Given the description of an element on the screen output the (x, y) to click on. 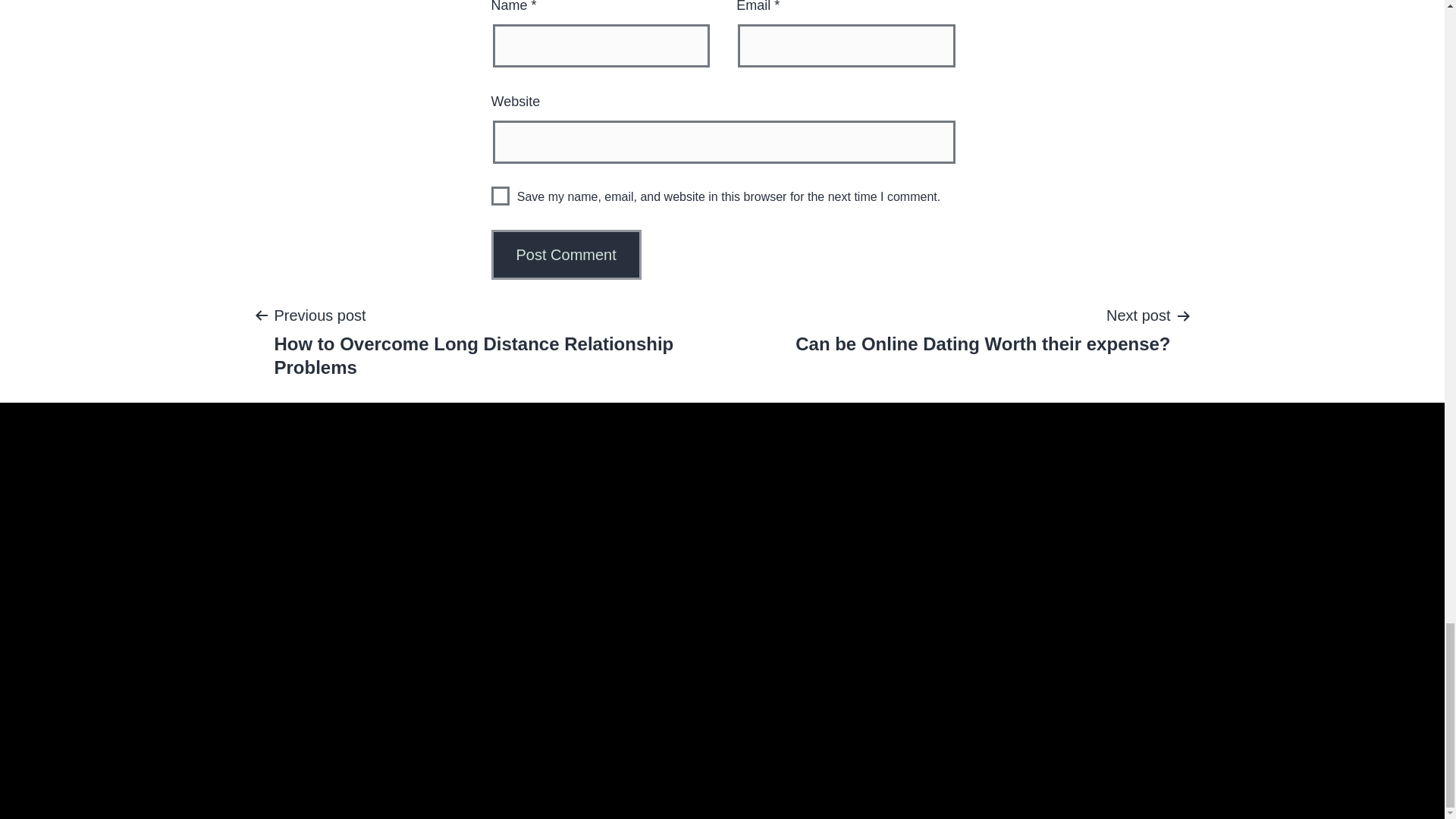
yes (500, 195)
Post Comment (567, 255)
Post Comment (982, 328)
